Given the description of an element on the screen output the (x, y) to click on. 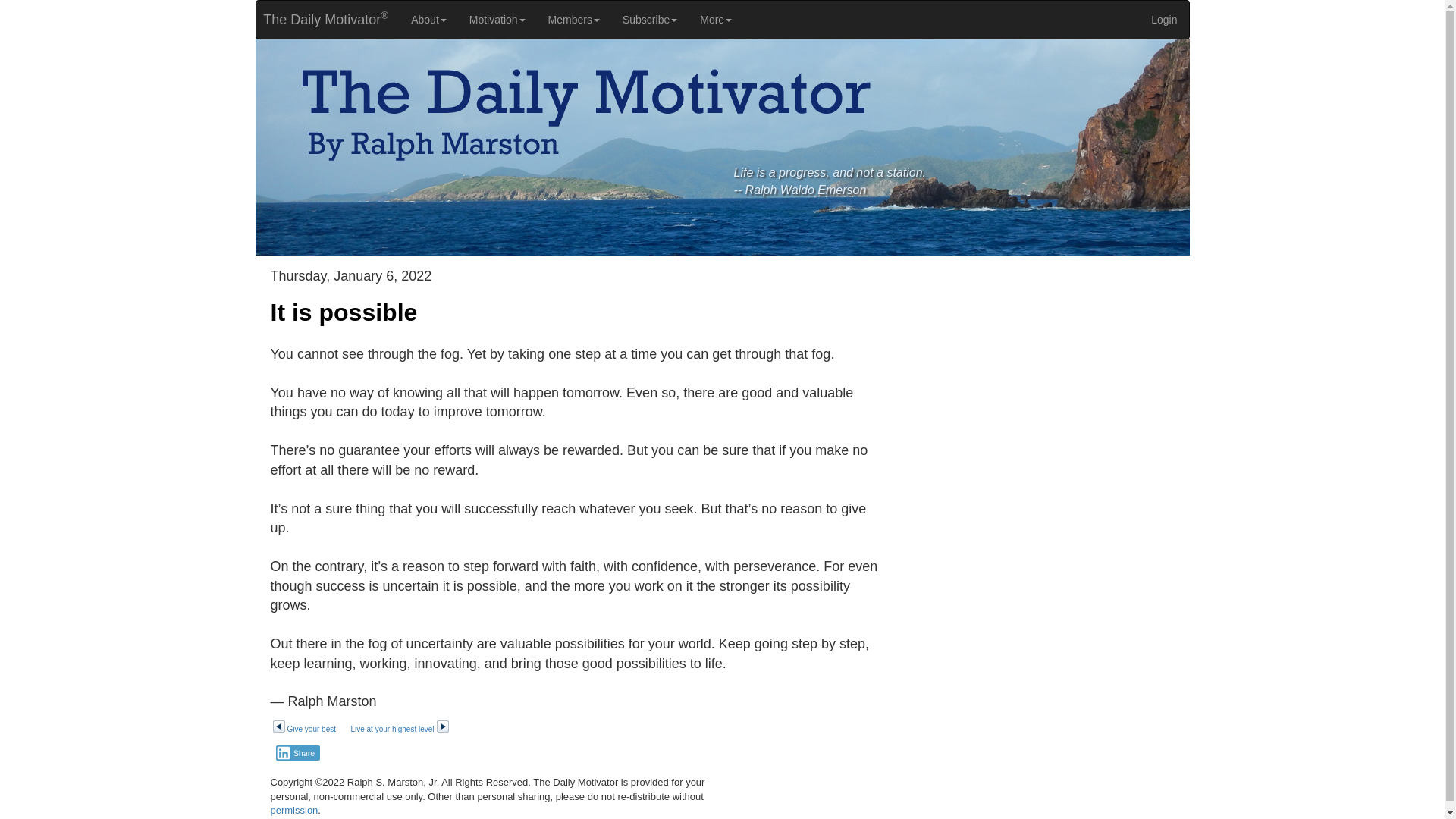
Advertisement (1047, 375)
Motivation (497, 19)
Advertisement (1047, 592)
Subscribe (649, 19)
Members (574, 19)
About (428, 19)
